Given the description of an element on the screen output the (x, y) to click on. 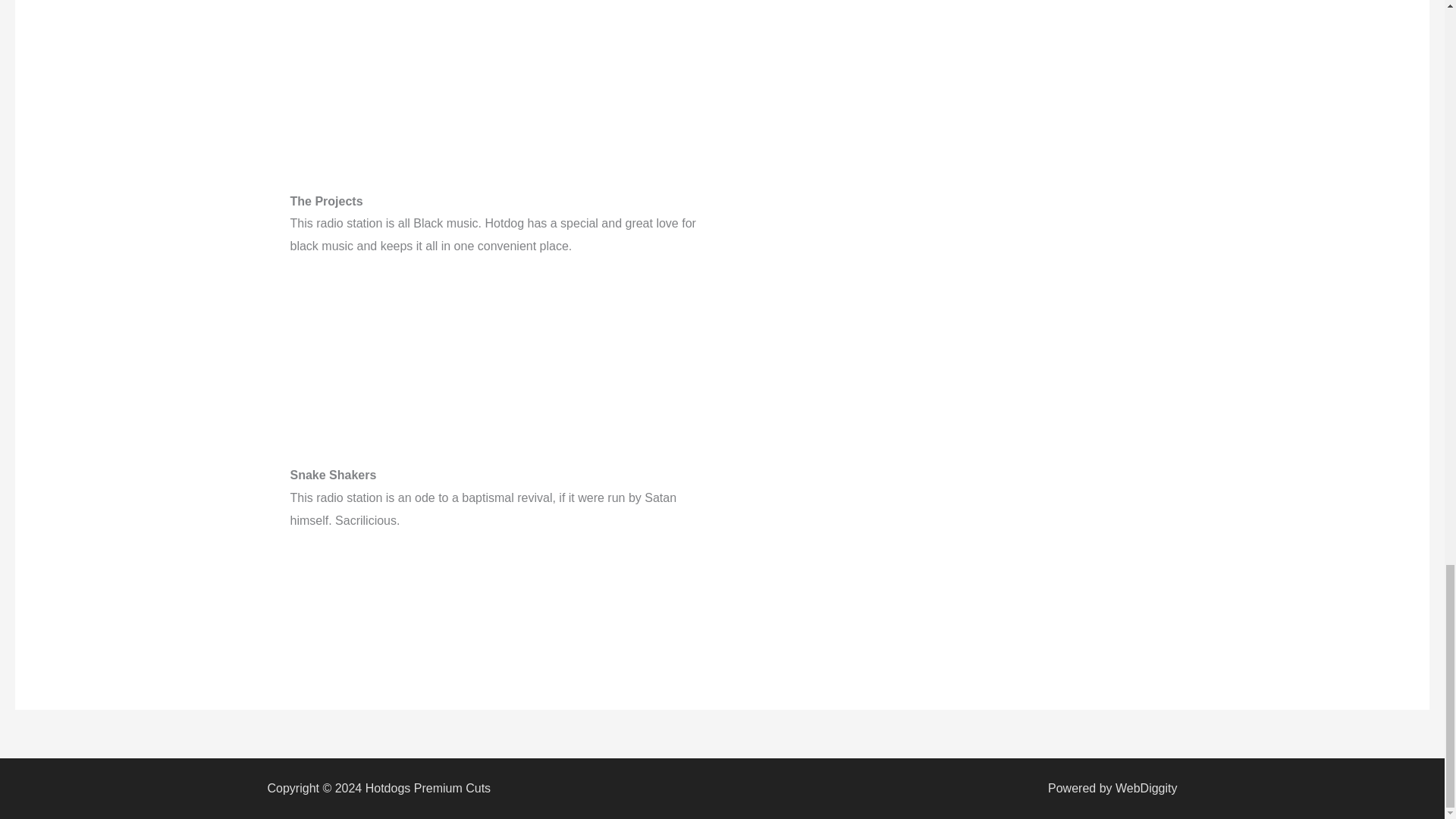
Spotify Embed: The Projects (941, 229)
Spotify Embed: Snake Shakers (941, 504)
Spotify Embed: Night Warrior (941, 44)
